Given the description of an element on the screen output the (x, y) to click on. 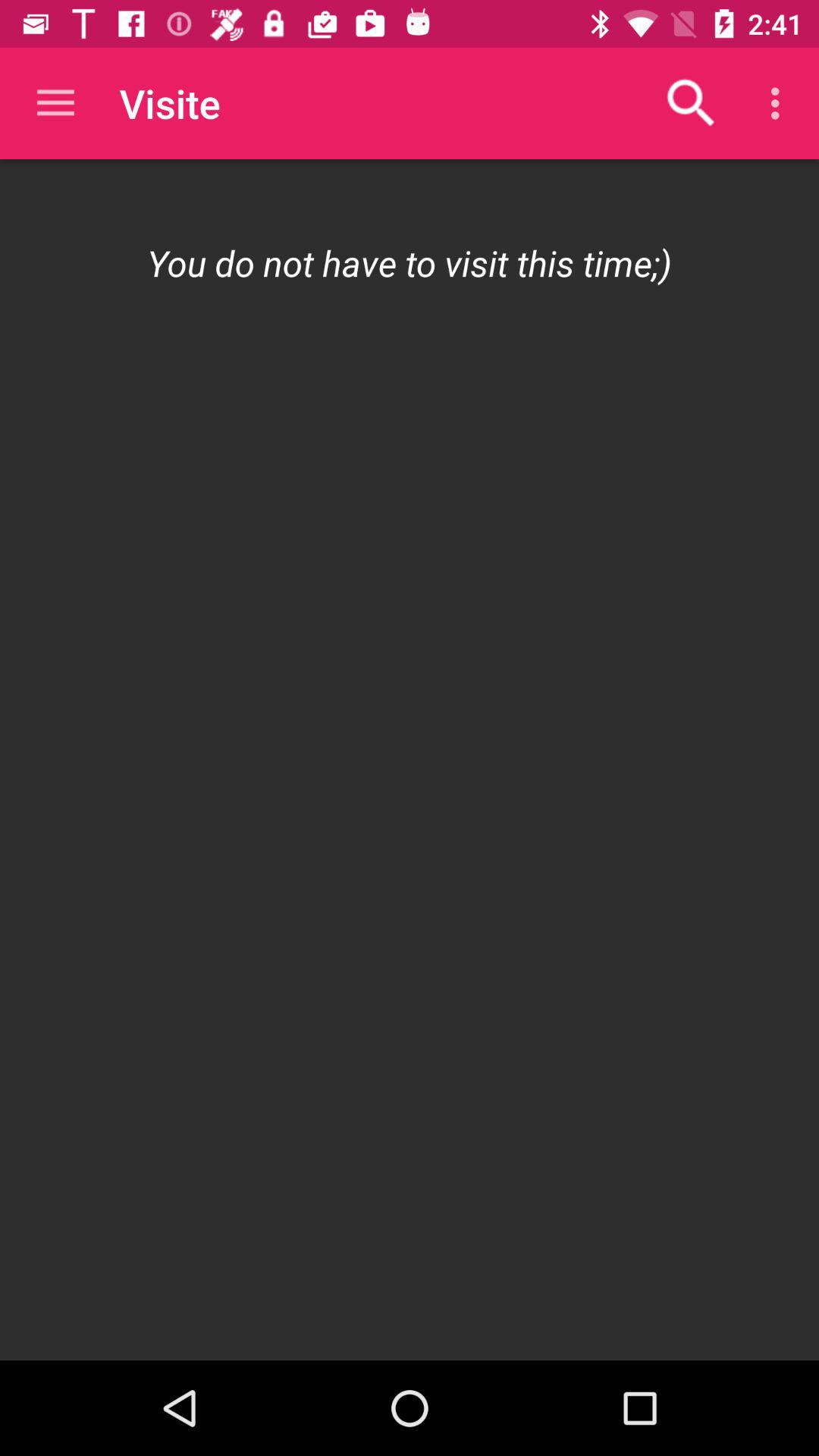
open the app next to visite app (55, 103)
